Given the description of an element on the screen output the (x, y) to click on. 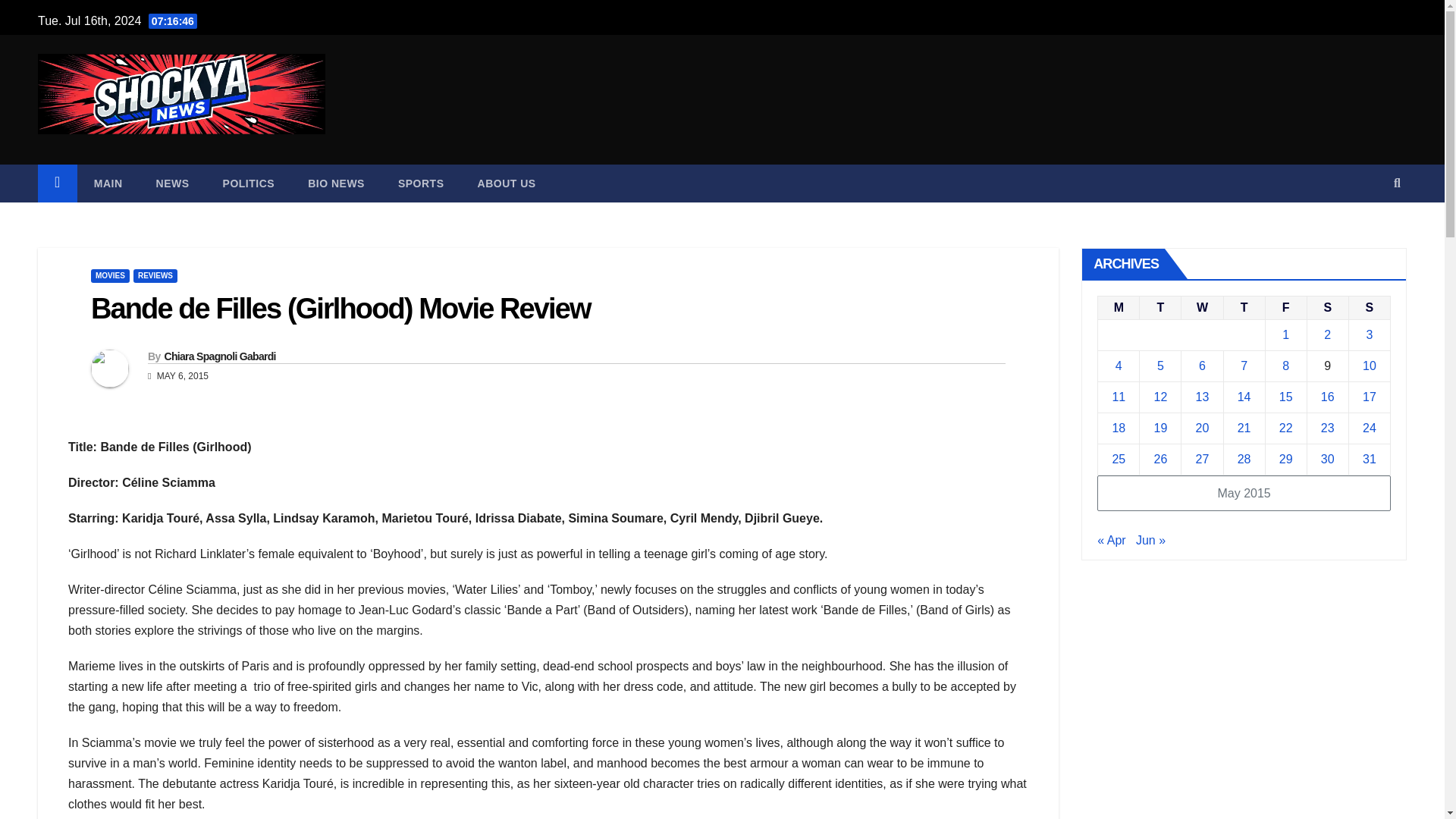
Friday (1285, 307)
Sunday (1369, 307)
POLITICS (249, 183)
NEWS (172, 183)
Saturday (1327, 307)
ABOUT US (507, 183)
POLITICS (249, 183)
MOVIES (109, 275)
ABOUT US (507, 183)
Wednesday (1201, 307)
SPORTS (421, 183)
MAIN (108, 183)
NEWS (172, 183)
MAIN (108, 183)
Monday (1118, 307)
